Given the description of an element on the screen output the (x, y) to click on. 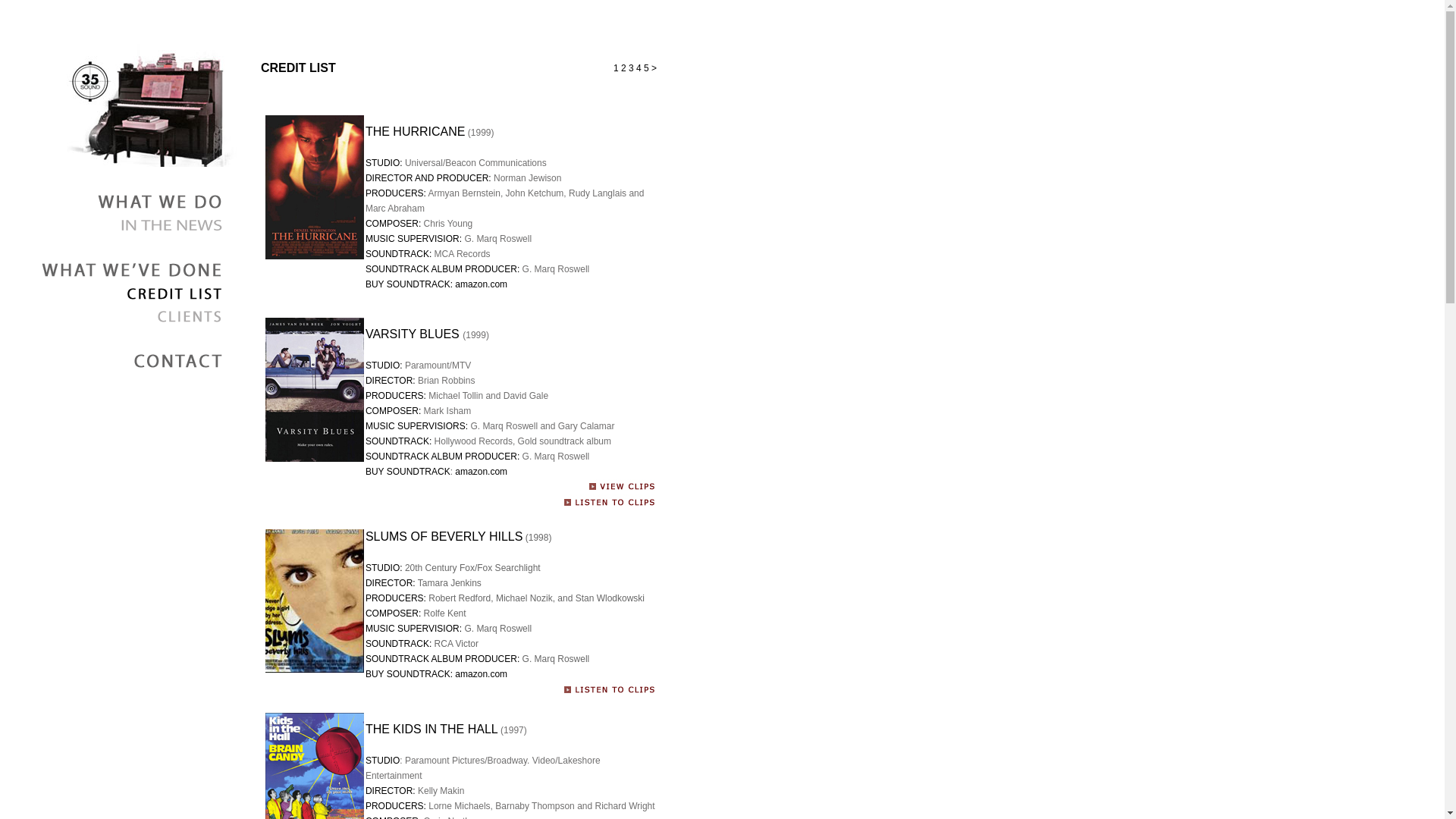
amazon.com Element type: text (481, 673)
> Element type: text (653, 67)
1 Element type: text (615, 67)
amazon.com Element type: text (481, 284)
5 Element type: text (647, 67)
2 Element type: text (623, 67)
3 Element type: text (630, 67)
amazon.com Element type: text (481, 471)
